Given the description of an element on the screen output the (x, y) to click on. 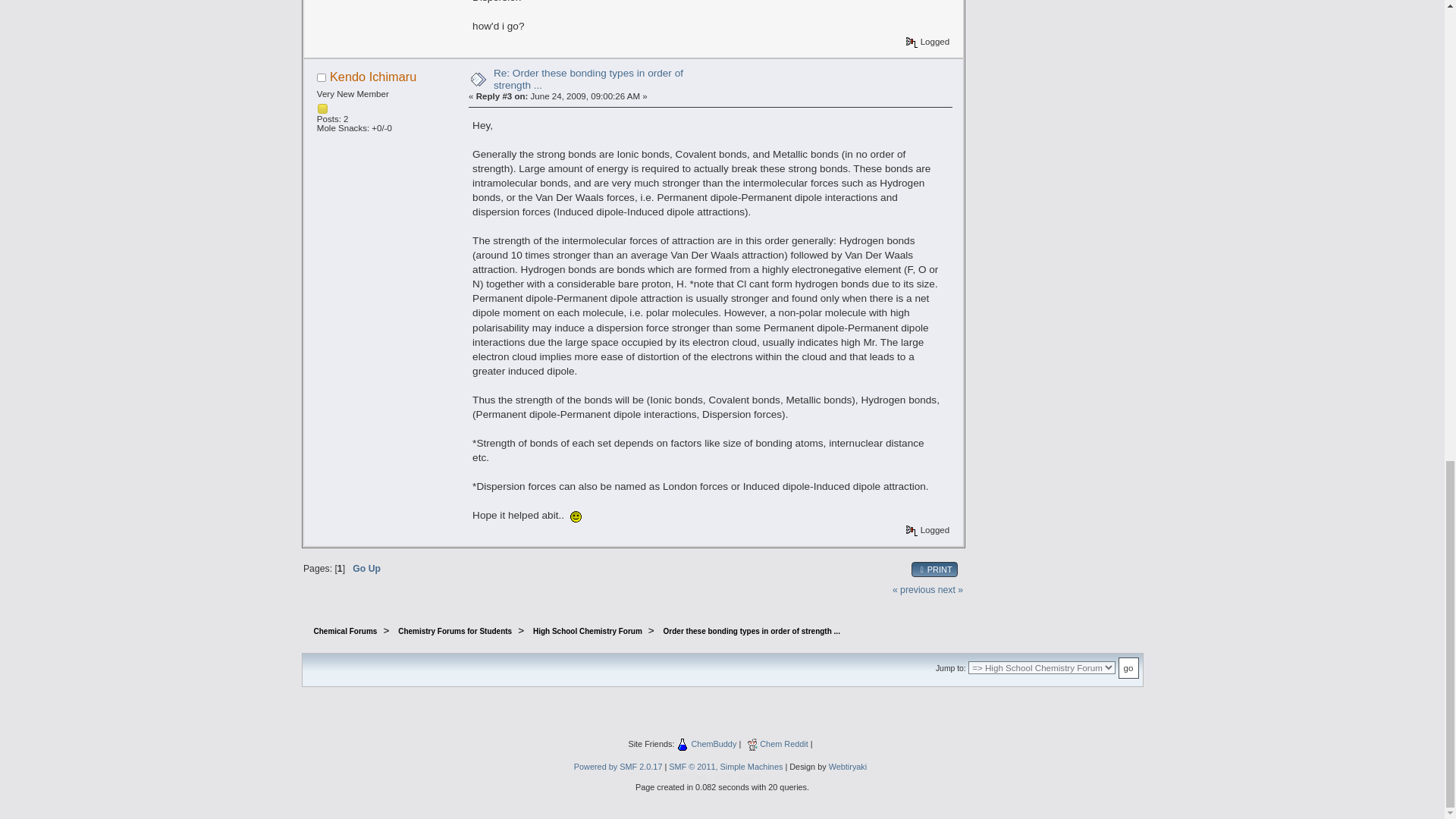
Simple Machines Forum (617, 766)
go (1128, 667)
Go Up (366, 568)
Chemical Forums (345, 630)
Kendo Ichimaru (373, 76)
High School Chemistry Forum (587, 630)
View the profile of Kendo Ichimaru (373, 76)
Smiley (575, 516)
Free Forum Software (725, 766)
Re: Order these bonding types in order of strength ... (587, 78)
